Given the description of an element on the screen output the (x, y) to click on. 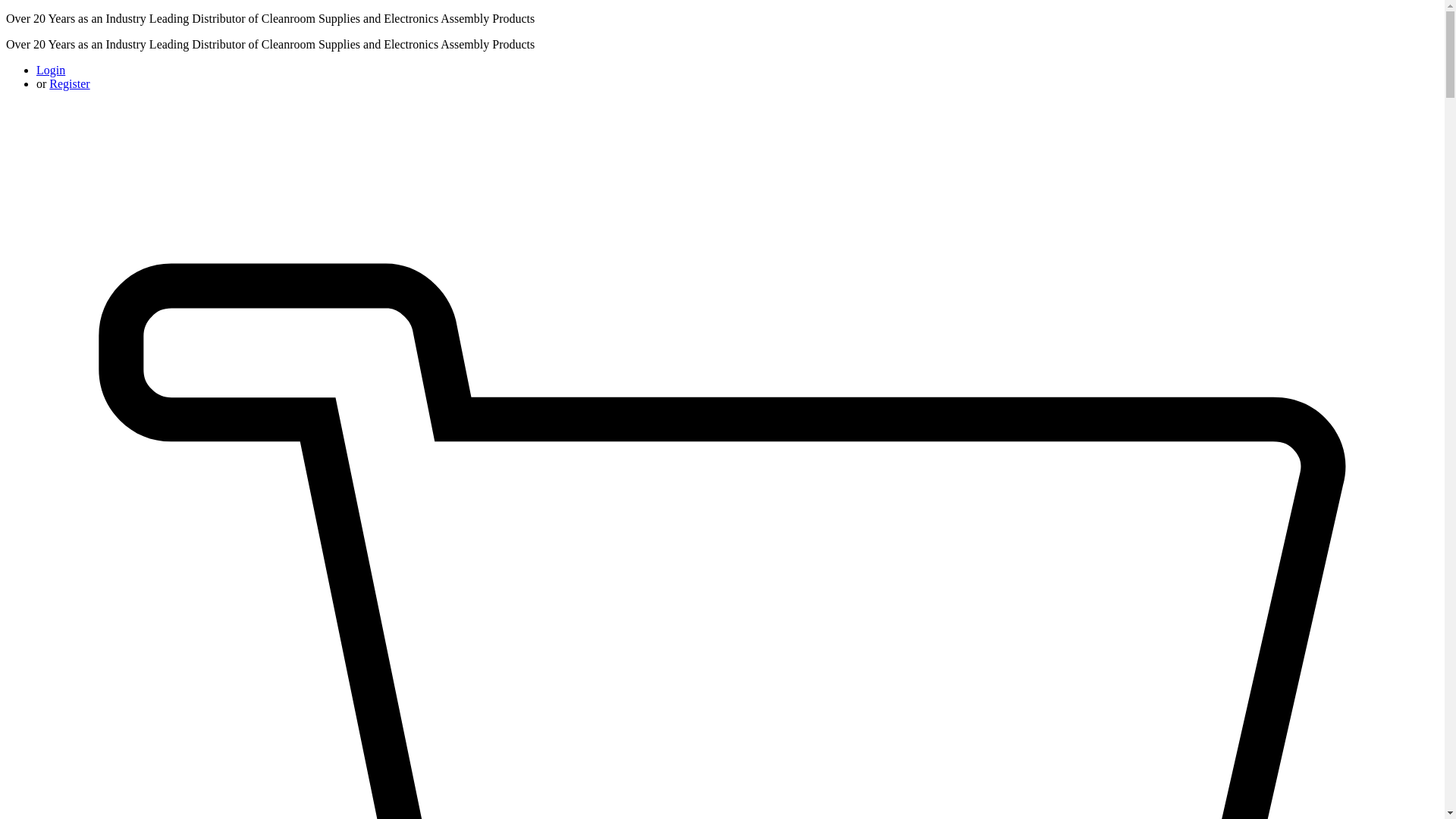
Login (50, 69)
Register (68, 83)
